Given the description of an element on the screen output the (x, y) to click on. 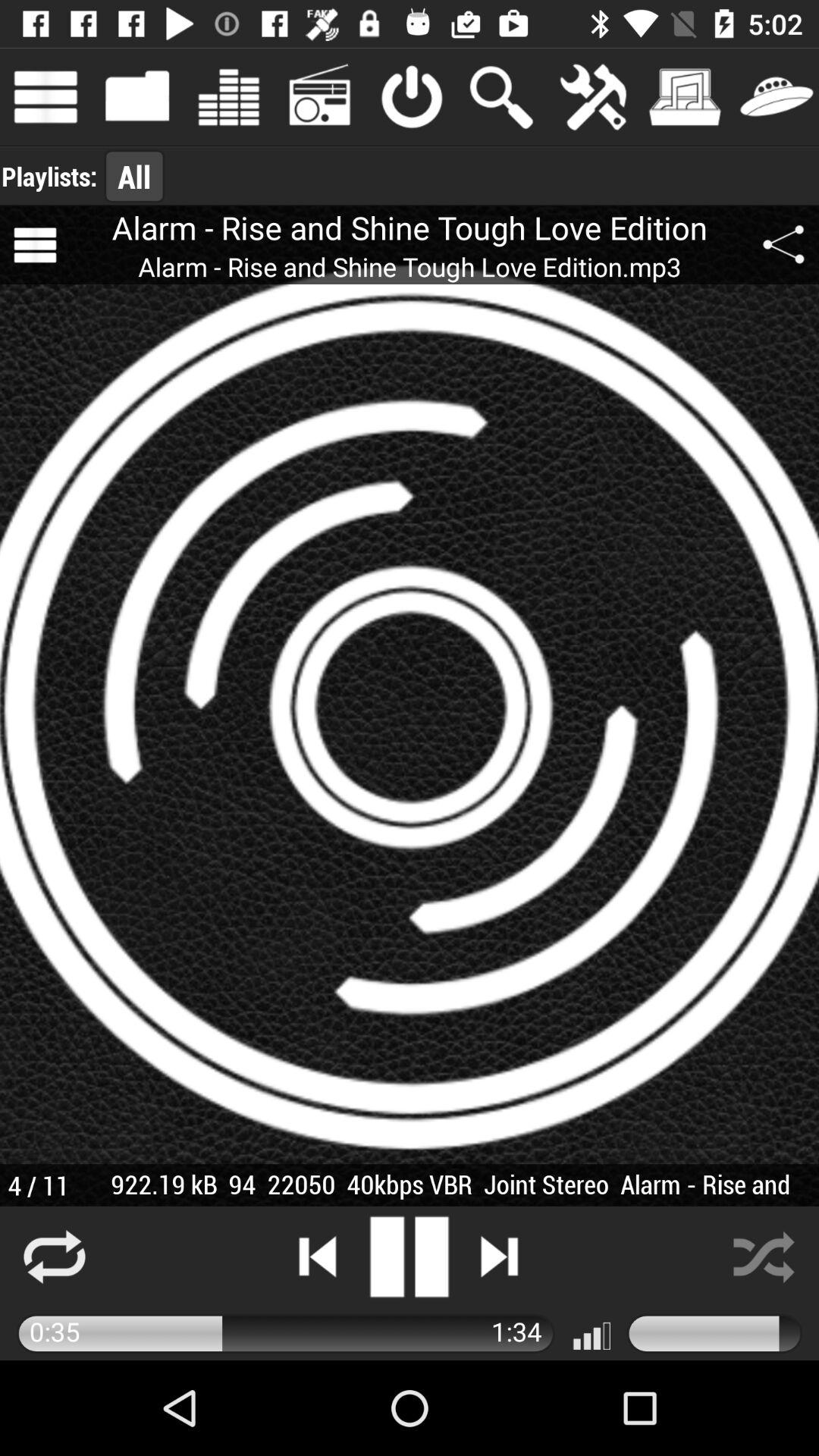
press the playlists: (49, 175)
